Given the description of an element on the screen output the (x, y) to click on. 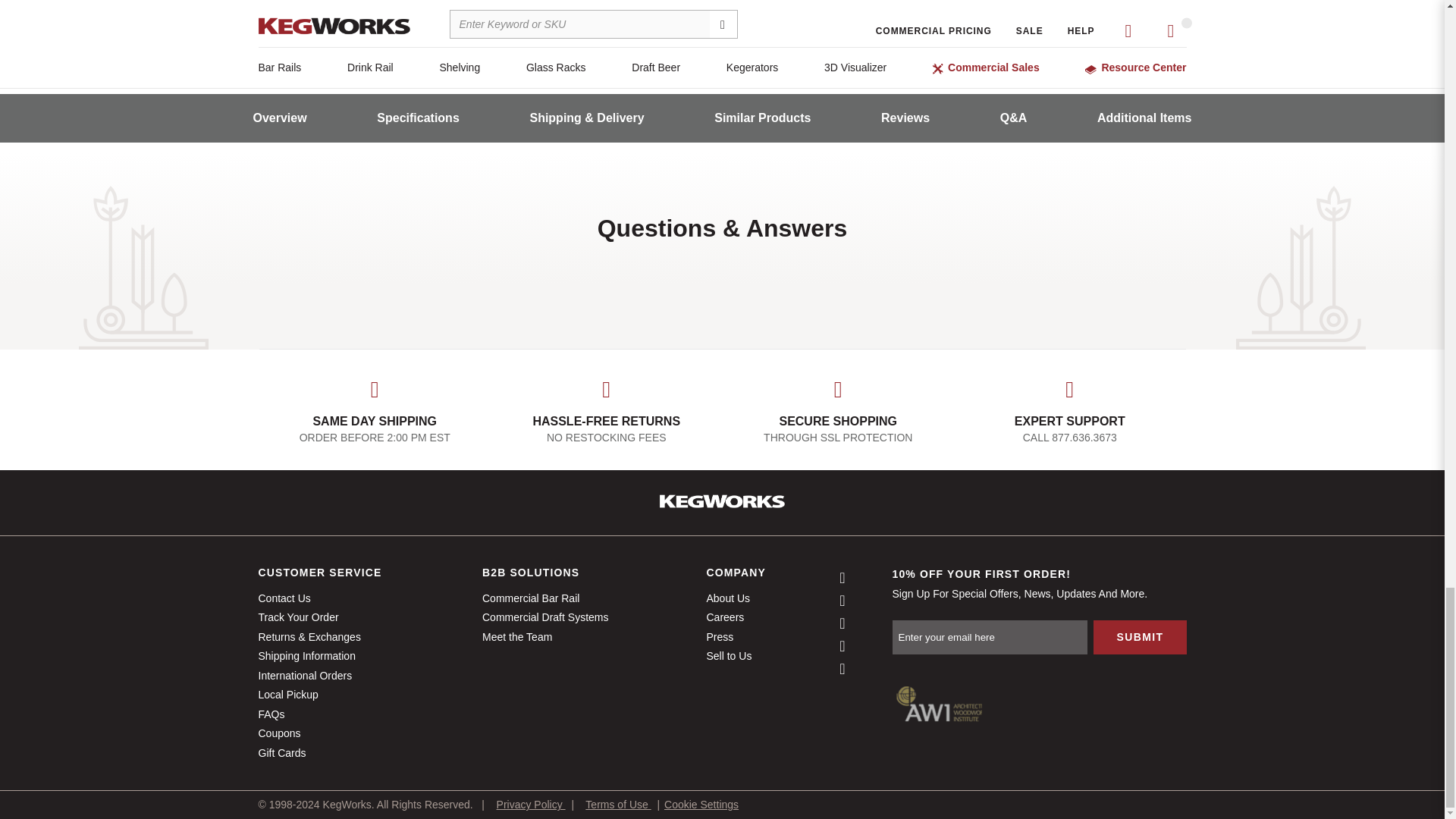
Submit (1139, 636)
